Given the description of an element on the screen output the (x, y) to click on. 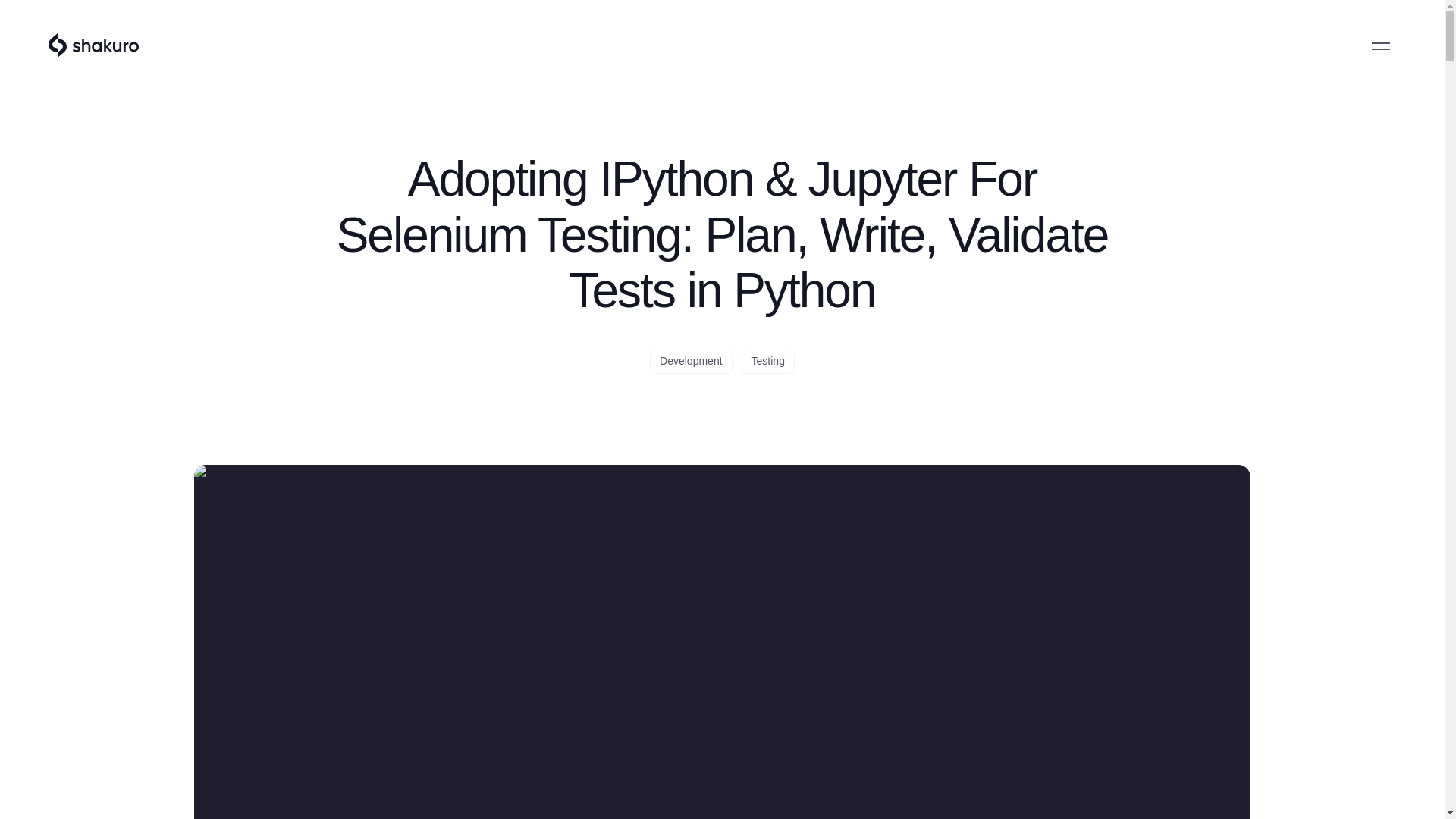
Development (690, 361)
Testing (767, 361)
